Given the description of an element on the screen output the (x, y) to click on. 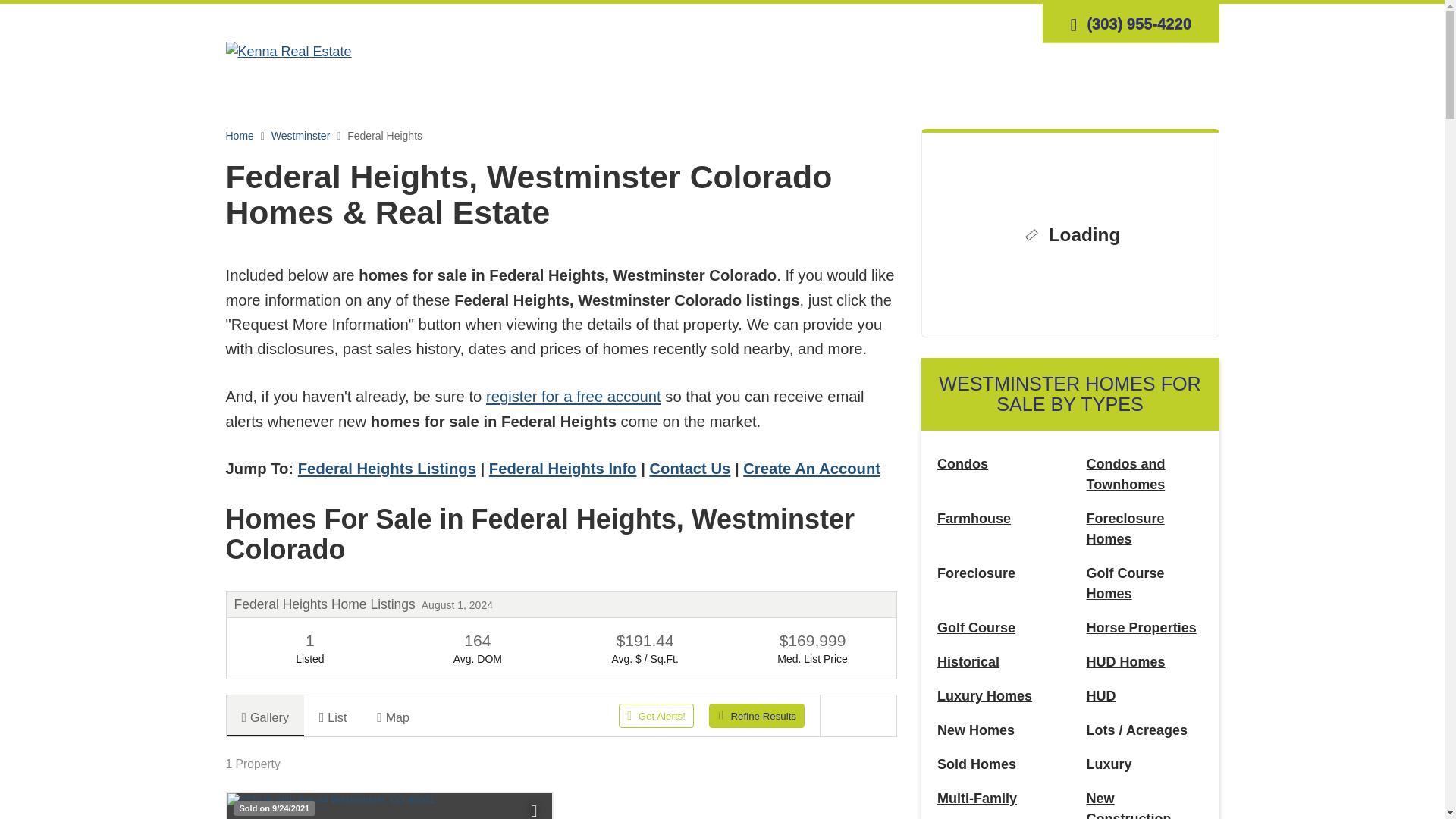
Register (920, 23)
View Federal Heights Listings (387, 468)
Contact us about Federal Heights homes and Condos for Sale (689, 468)
Login (872, 23)
Create an account to track Federal Heights homes and condos (811, 468)
Select Language (1008, 23)
Learn about Federal Heights Amenities (563, 468)
Home Page (288, 50)
